Given the description of an element on the screen output the (x, y) to click on. 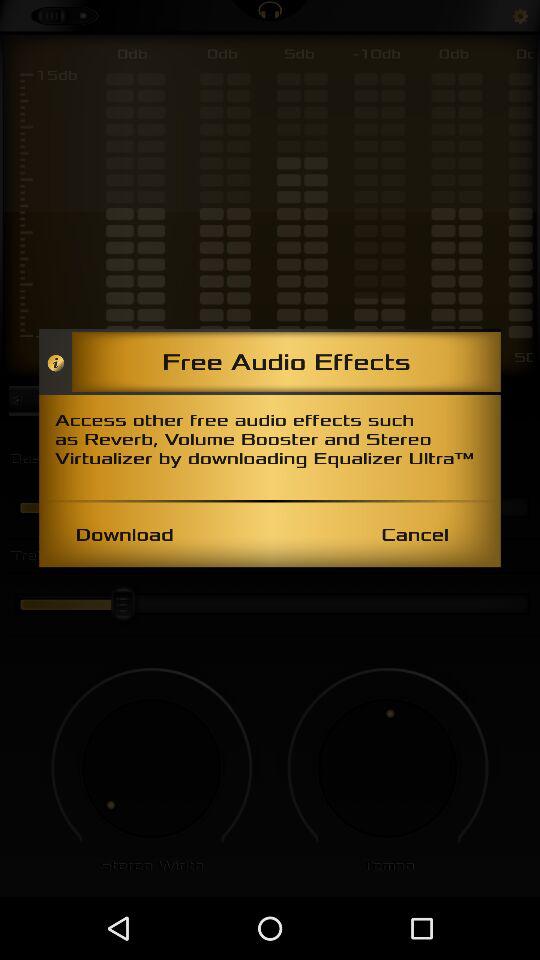
launch the download icon (124, 534)
